Given the description of an element on the screen output the (x, y) to click on. 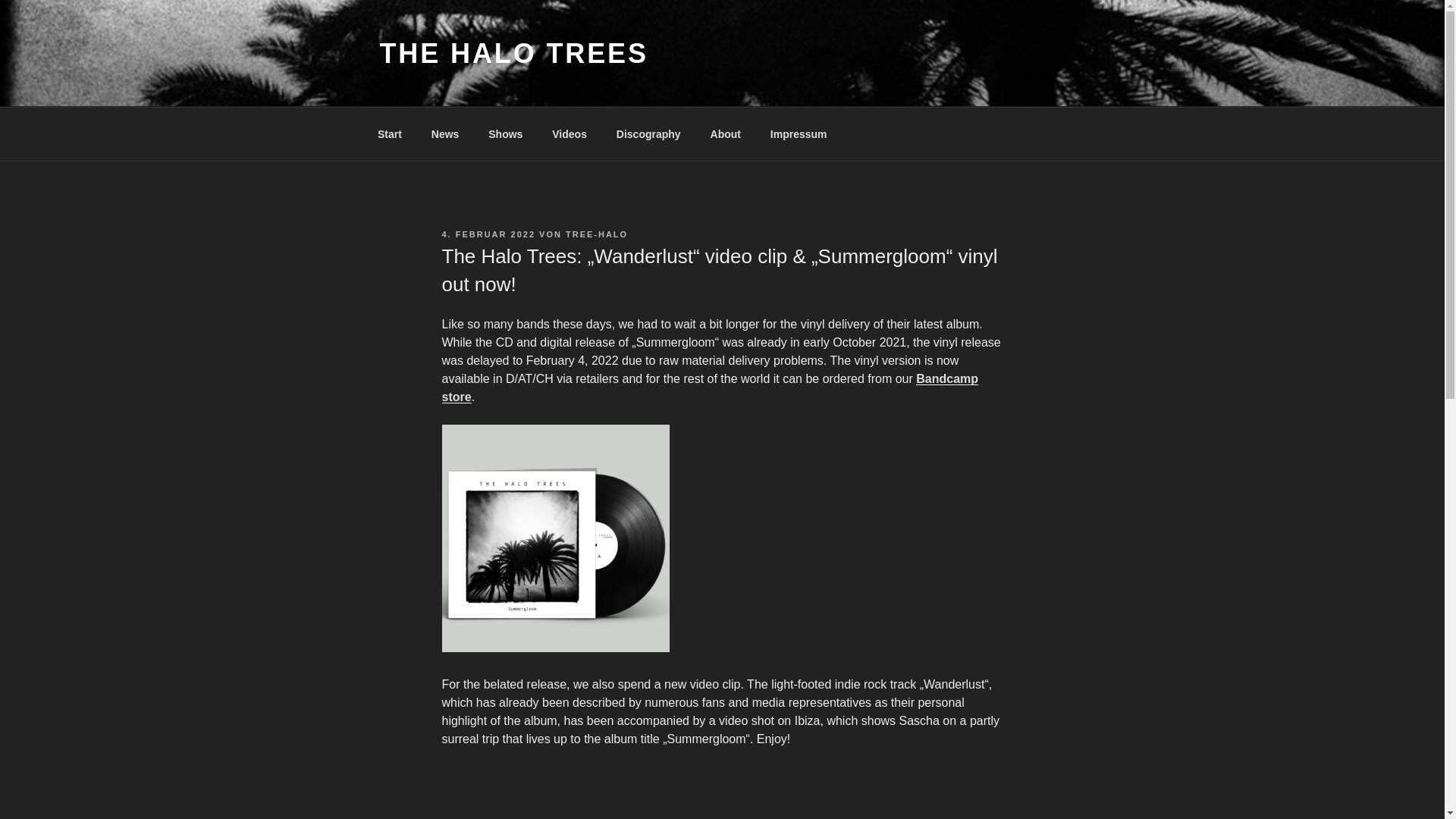
Shows (505, 133)
Impressum (798, 133)
News (444, 133)
4. FEBRUAR 2022 (488, 234)
YouTube video player (653, 792)
THE HALO TREES (512, 52)
TREE-HALO (596, 234)
About (725, 133)
Start (389, 133)
Bandcamp store (709, 387)
